Given the description of an element on the screen output the (x, y) to click on. 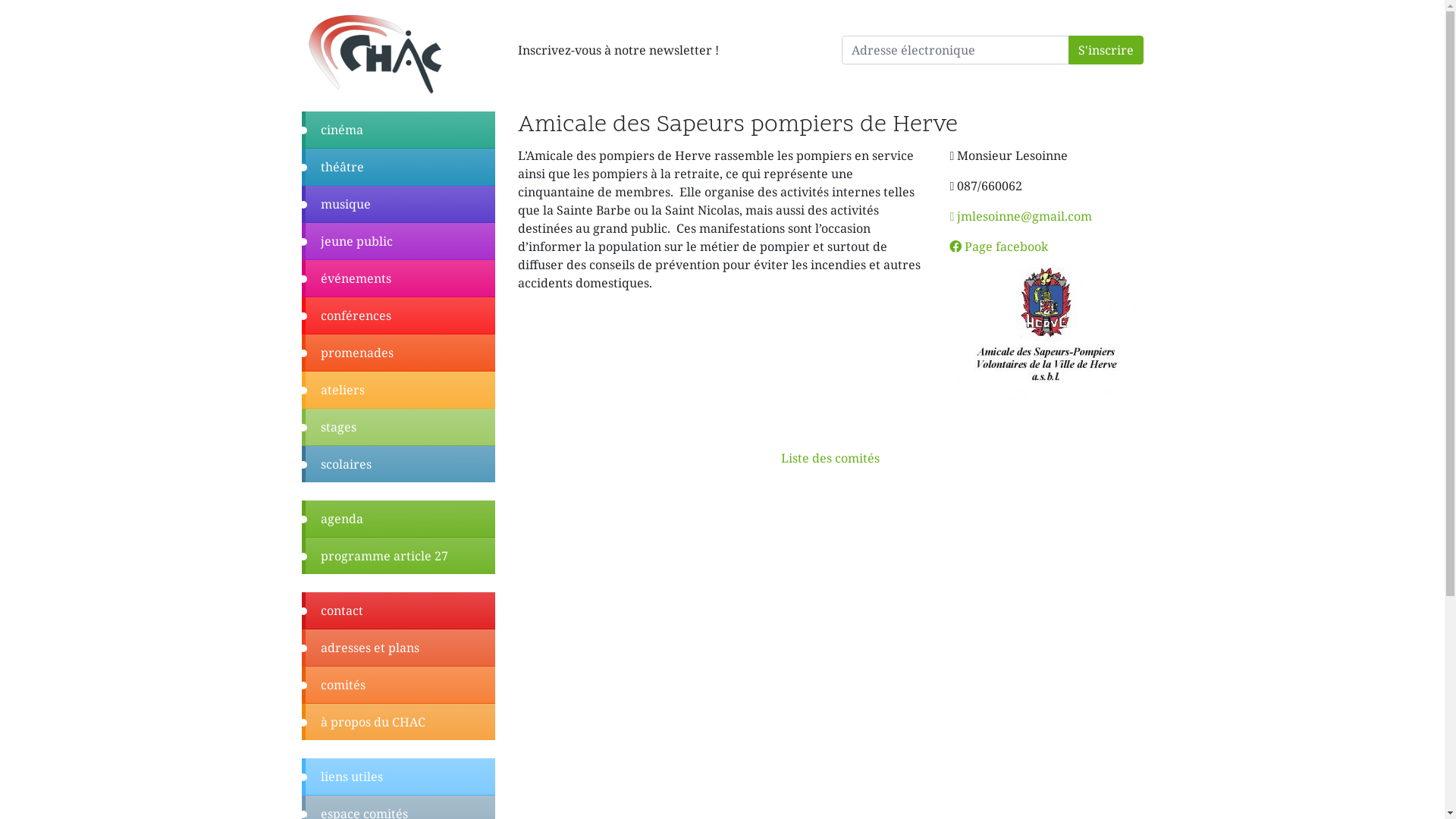
programme article 27 Element type: text (398, 555)
agenda Element type: text (398, 518)
scolaires Element type: text (398, 463)
jmlesoinne@gmail.com Element type: text (1020, 215)
liens utiles Element type: text (398, 776)
Page facebook Element type: text (998, 246)
promenades Element type: text (398, 352)
ateliers Element type: text (398, 389)
S'inscrire Element type: text (1104, 49)
contact Element type: text (398, 610)
jeune public Element type: text (398, 241)
musique Element type: text (398, 203)
stages Element type: text (398, 426)
adresses et plans Element type: text (398, 647)
